Given the description of an element on the screen output the (x, y) to click on. 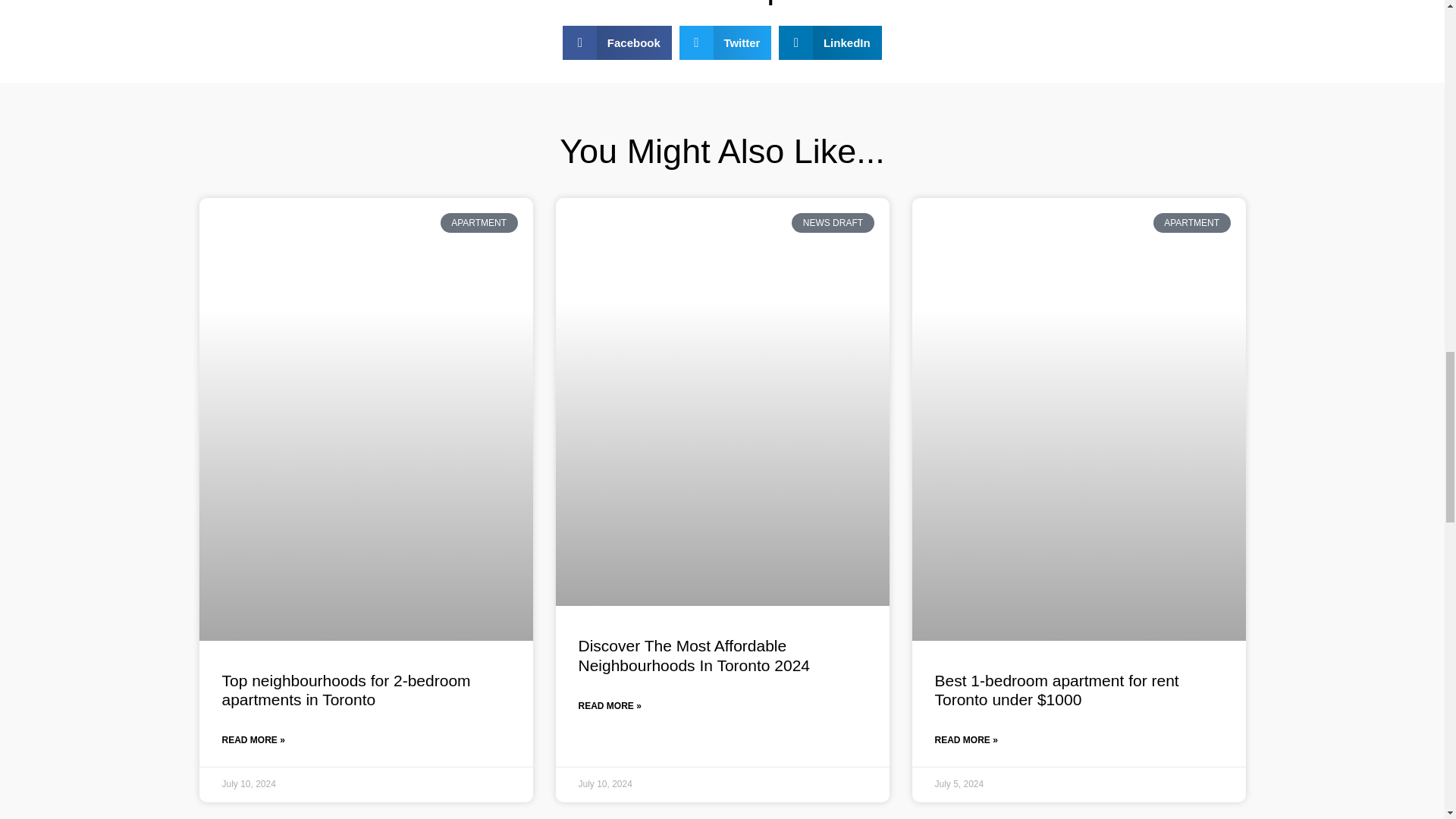
Discover The Most Affordable Neighbourhoods In Toronto 2024 (693, 655)
Top neighbourhoods for 2-bedroom apartments in Toronto (345, 689)
